Given the description of an element on the screen output the (x, y) to click on. 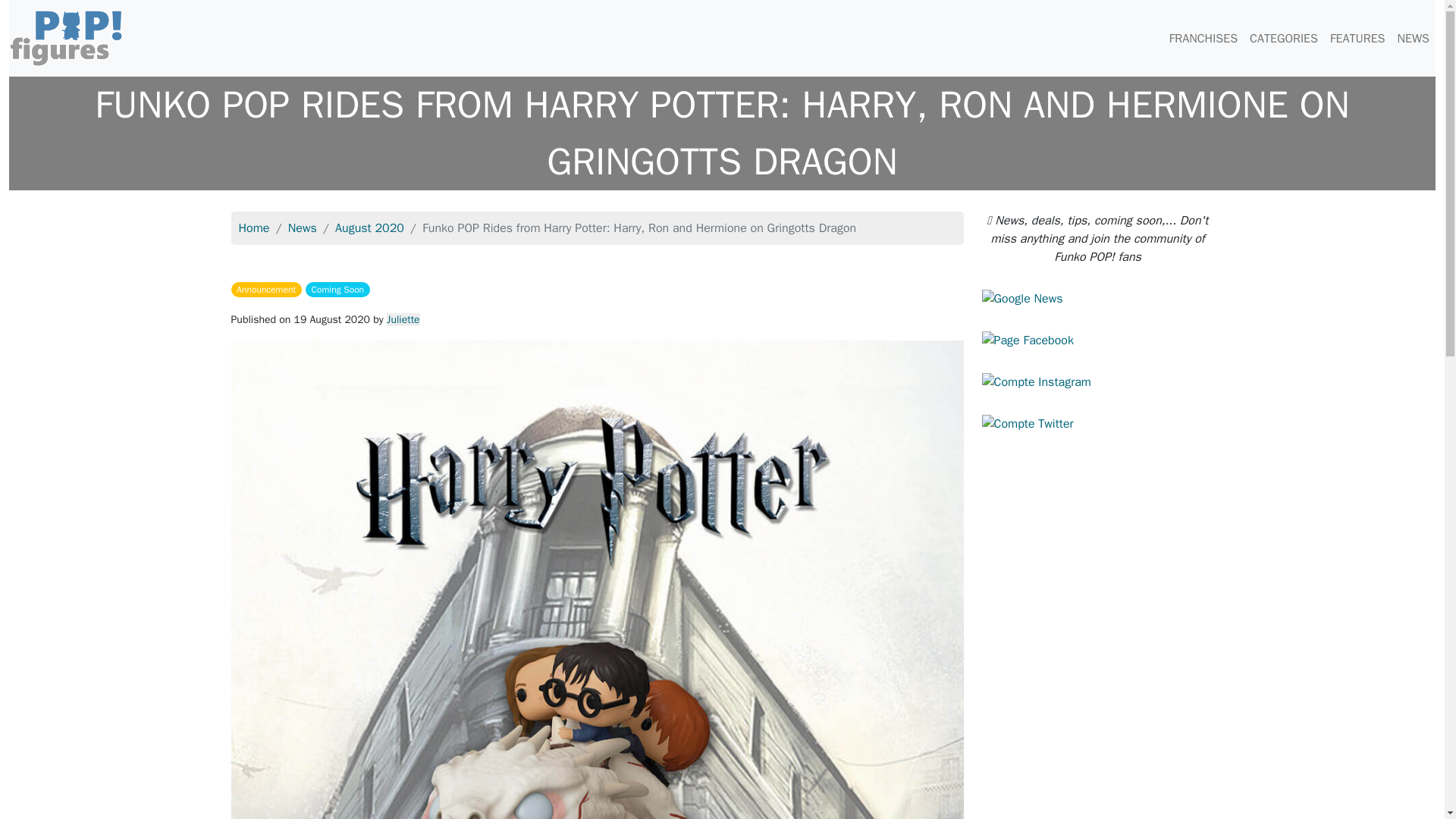
Instagram (1035, 381)
NEWS (1412, 37)
Home (253, 227)
Twitter (1027, 422)
August 2020 (369, 227)
FEATURES (1357, 37)
All POP News from Juliette (403, 318)
News (302, 227)
CATEGORIES (1283, 37)
Juliette (403, 318)
